Given the description of an element on the screen output the (x, y) to click on. 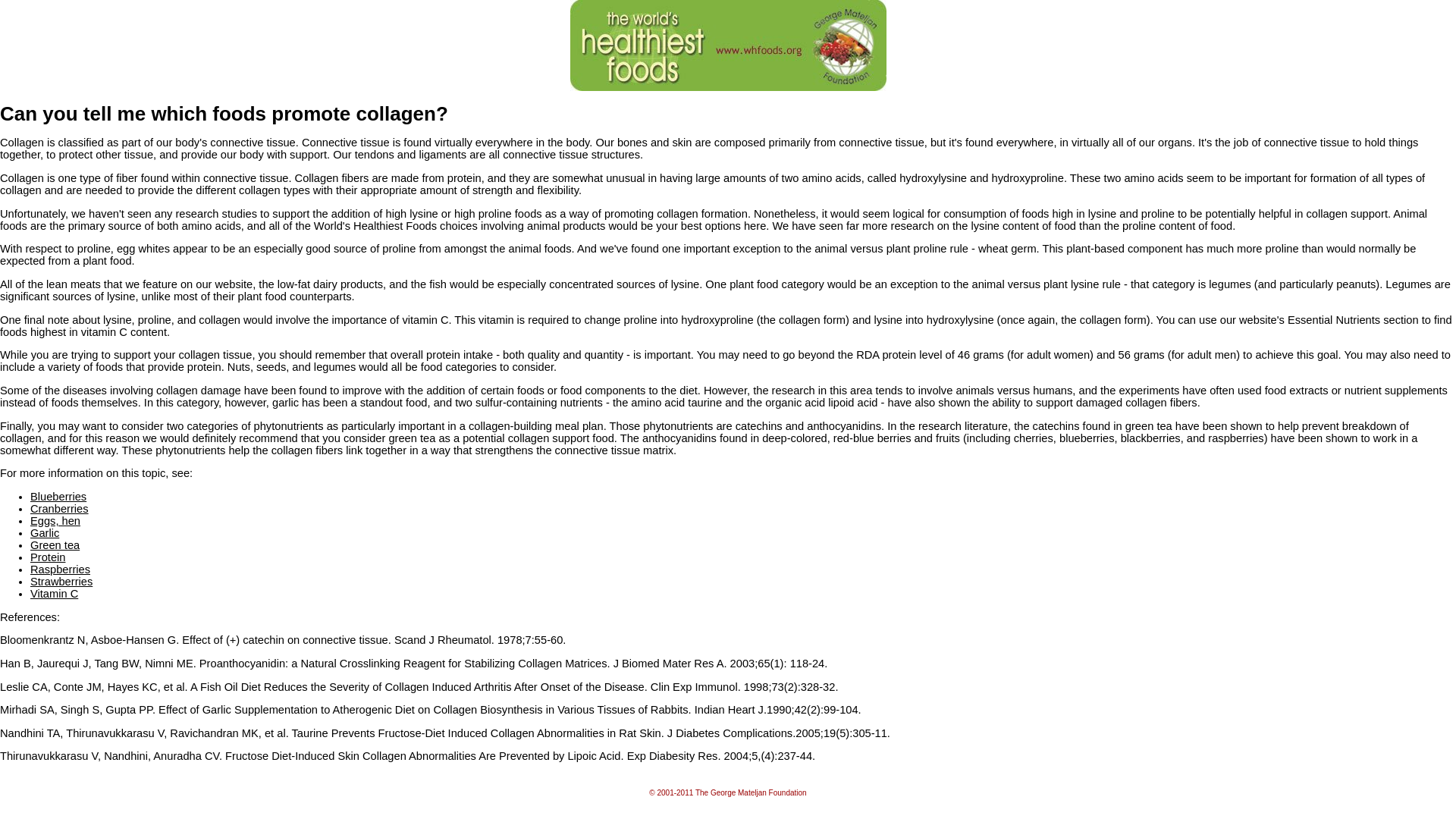
Green tea (55, 544)
Garlic (44, 532)
Cranberries (59, 508)
Blueberries (57, 496)
Protein (47, 557)
Raspberries (60, 569)
Strawberries (61, 581)
Vitamin C (54, 593)
Eggs, hen (55, 521)
